Given the description of an element on the screen output the (x, y) to click on. 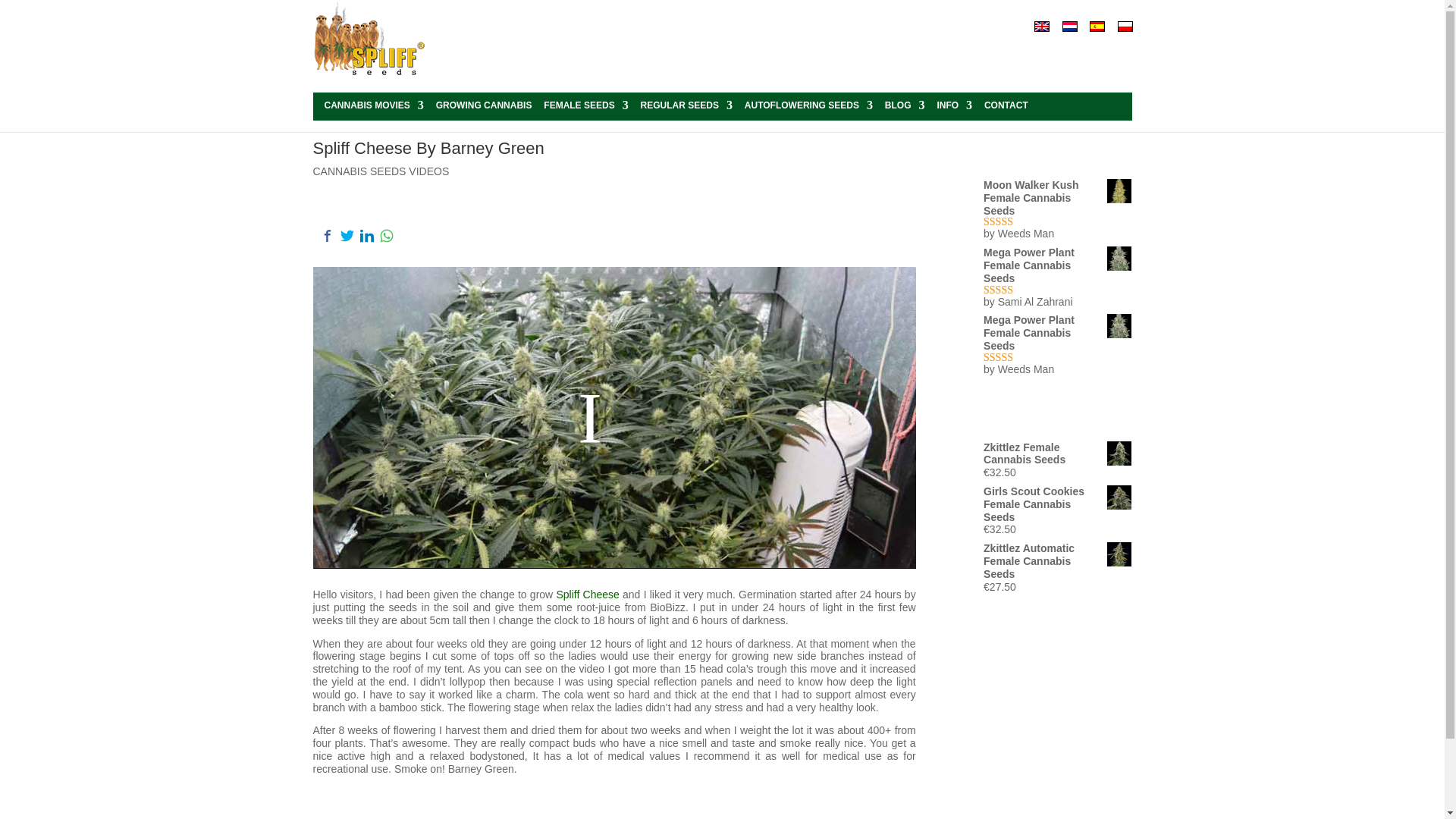
Share on Linkedin (365, 235)
Share on Facebook (326, 235)
GROWING CANNABIS (483, 106)
Share on WhatsApp (385, 235)
Tweet (346, 235)
CANNABIS MOVIES (373, 106)
FEMALE SEEDS (585, 106)
